Given the description of an element on the screen output the (x, y) to click on. 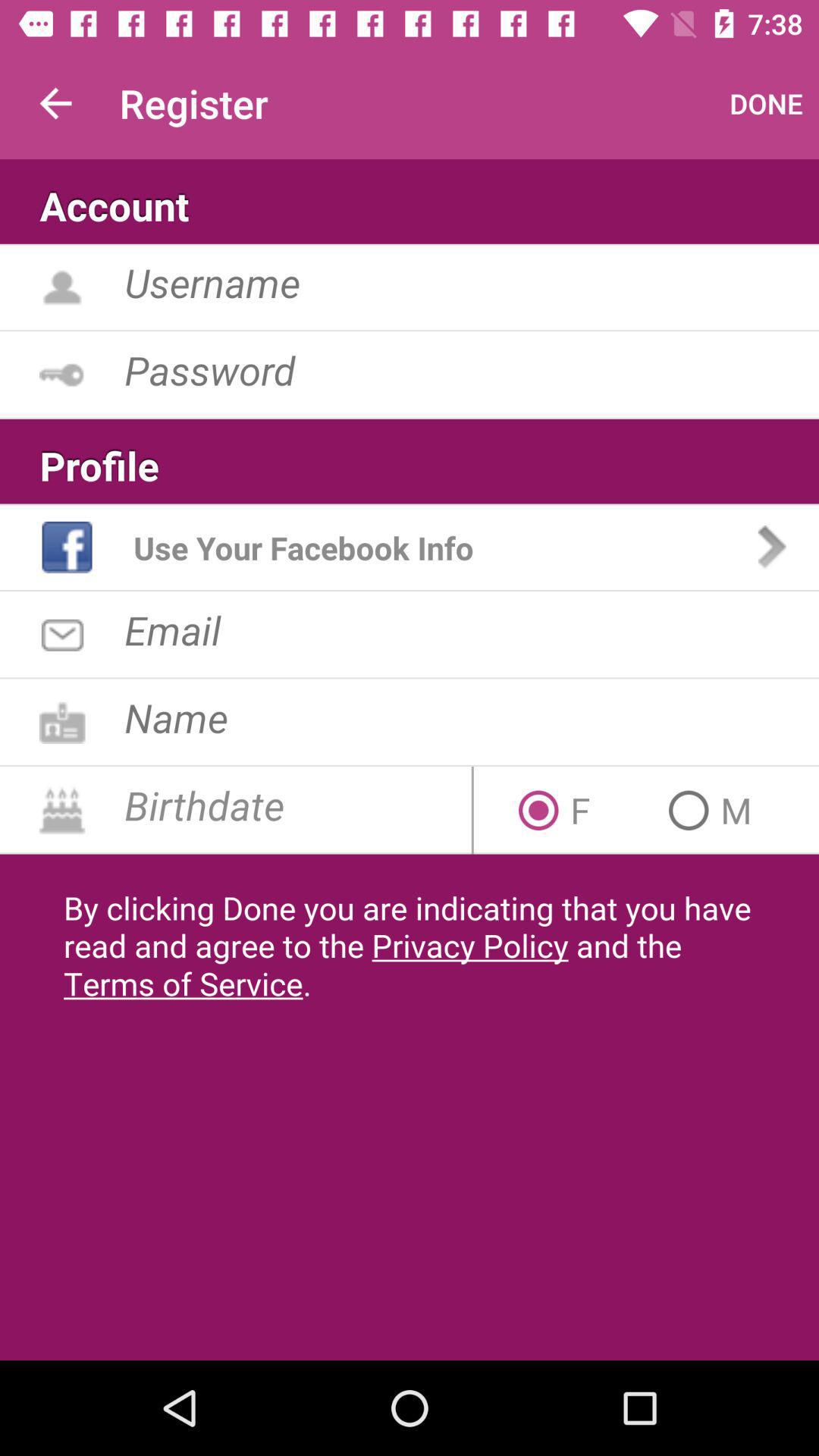
name (471, 717)
